Given the description of an element on the screen output the (x, y) to click on. 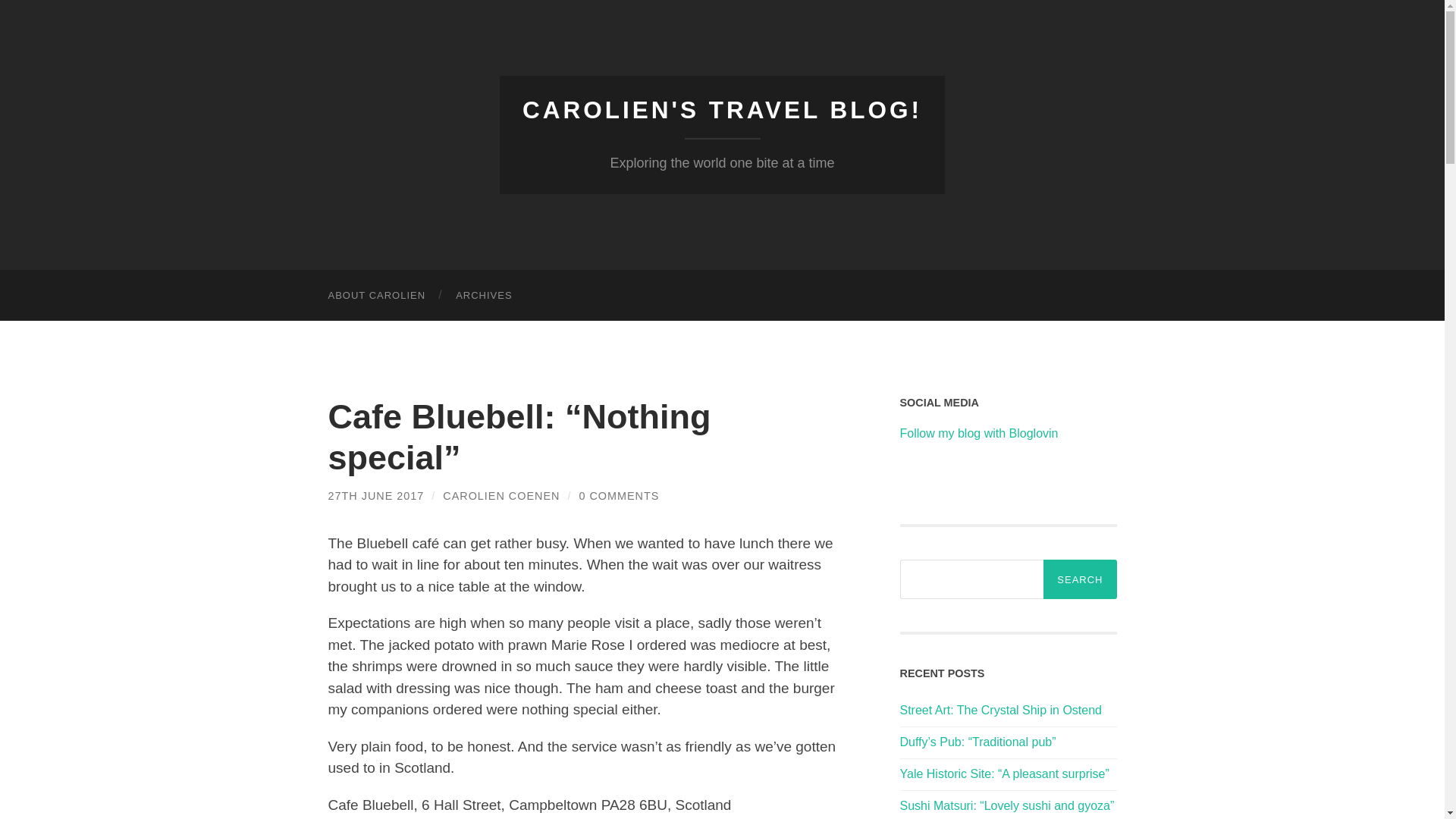
CAROLIEN'S TRAVEL BLOG! (721, 109)
27TH JUNE 2017 (375, 495)
ABOUT CAROLIEN (377, 295)
Search (1079, 578)
Follow my blog with Bloglovin (978, 432)
CAROLIEN COENEN (500, 495)
Search (1079, 578)
Street Art: The Crystal Ship in Ostend (1000, 709)
0 COMMENTS (618, 495)
Posts by Carolien Coenen (500, 495)
